Given the description of an element on the screen output the (x, y) to click on. 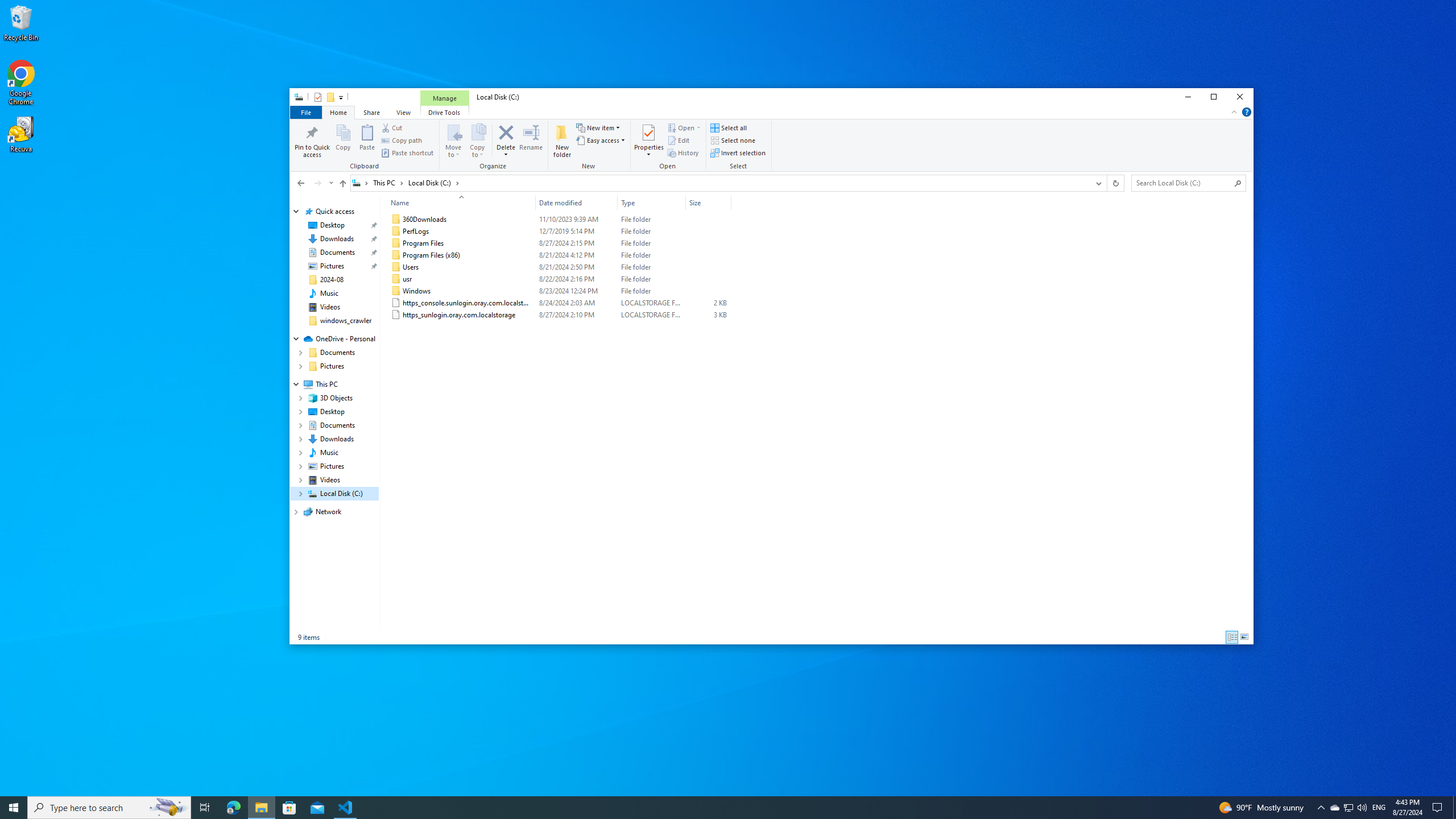
Windows (558, 291)
Show desktop (1454, 807)
Search (1238, 182)
https_sunlogin.oray.com.localstorage (558, 314)
https_console.sunlogin.oray.com.localstorage (558, 302)
Minimize (1187, 96)
Name (458, 202)
Back to Network (Alt + Left Arrow) (300, 182)
Quick Access Toolbar (323, 96)
Search Box (1182, 182)
New folder (562, 140)
Address band toolbar (1106, 182)
Clipboard (365, 145)
User Promoted Notification Area (1347, 807)
Paste (367, 140)
